Given the description of an element on the screen output the (x, y) to click on. 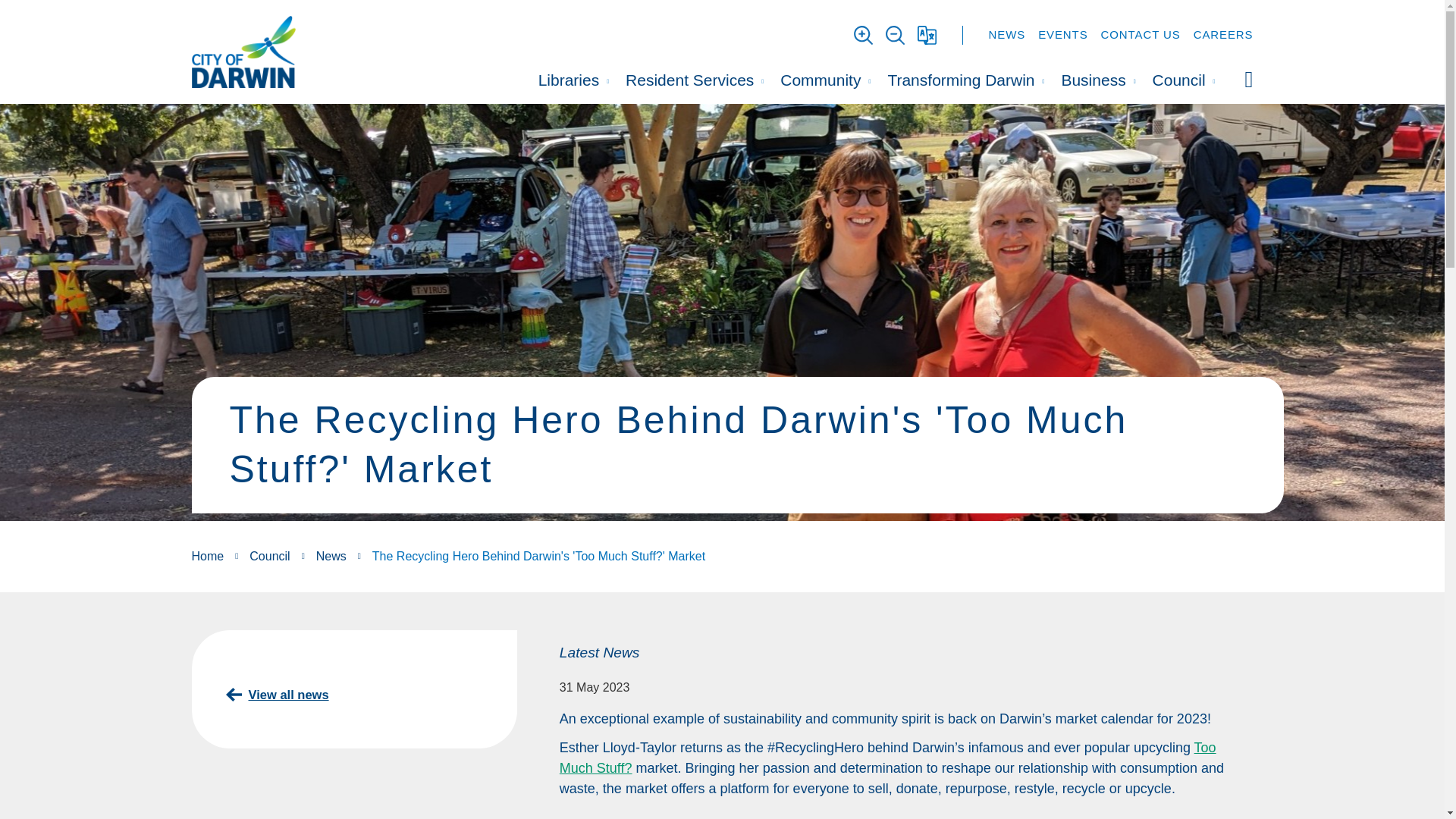
News (1007, 33)
language (926, 35)
Zoom out (862, 35)
Zoom in (894, 35)
EVENTS (1062, 33)
Events (1062, 33)
Libraries (572, 79)
Contact Us (1140, 33)
CONTACT US (1140, 33)
NEWS (1007, 33)
CAREERS (1223, 33)
